Given the description of an element on the screen output the (x, y) to click on. 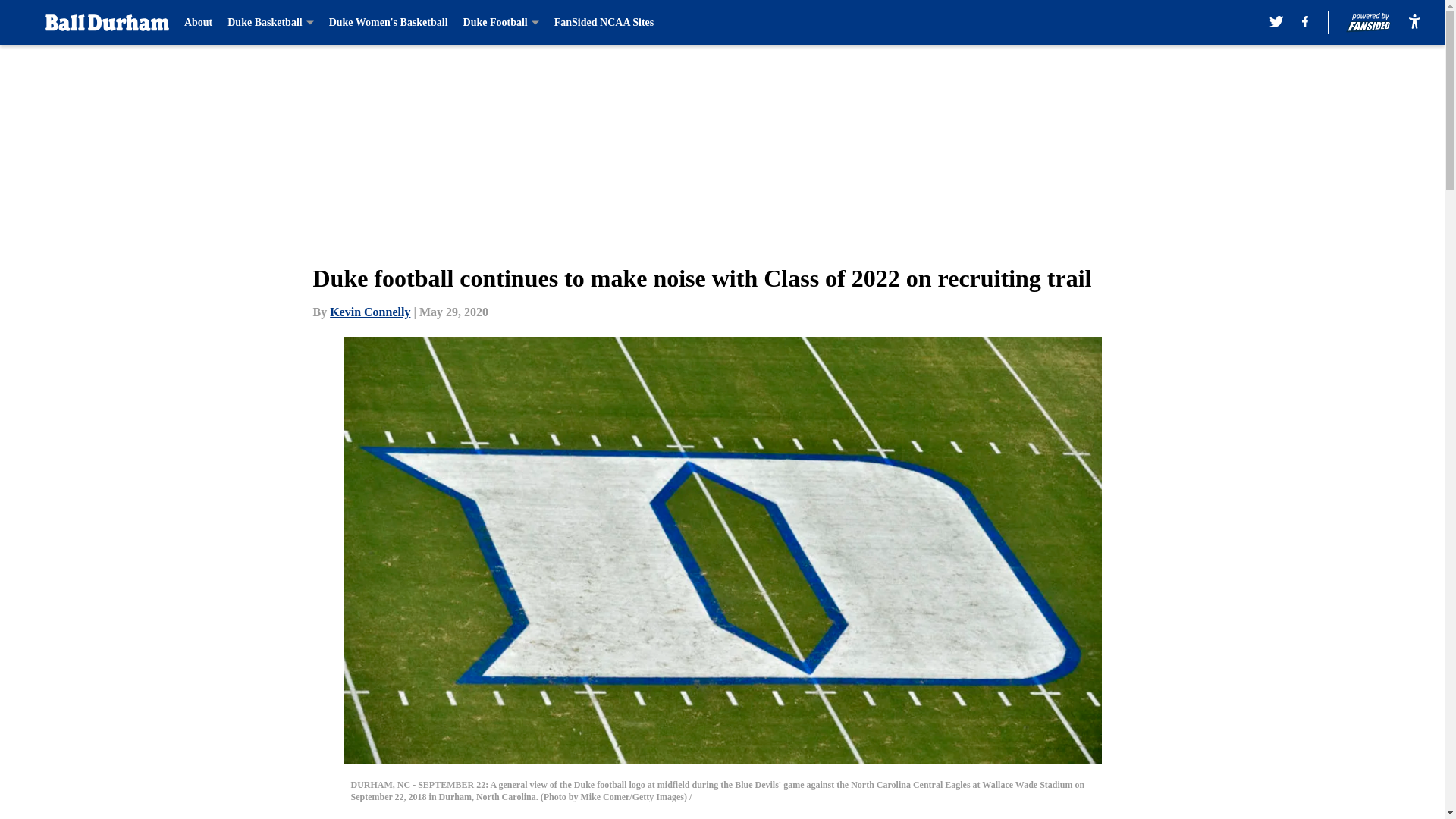
Duke Women's Basketball (388, 22)
About (198, 22)
FanSided NCAA Sites (603, 22)
Kevin Connelly (370, 311)
